Given the description of an element on the screen output the (x, y) to click on. 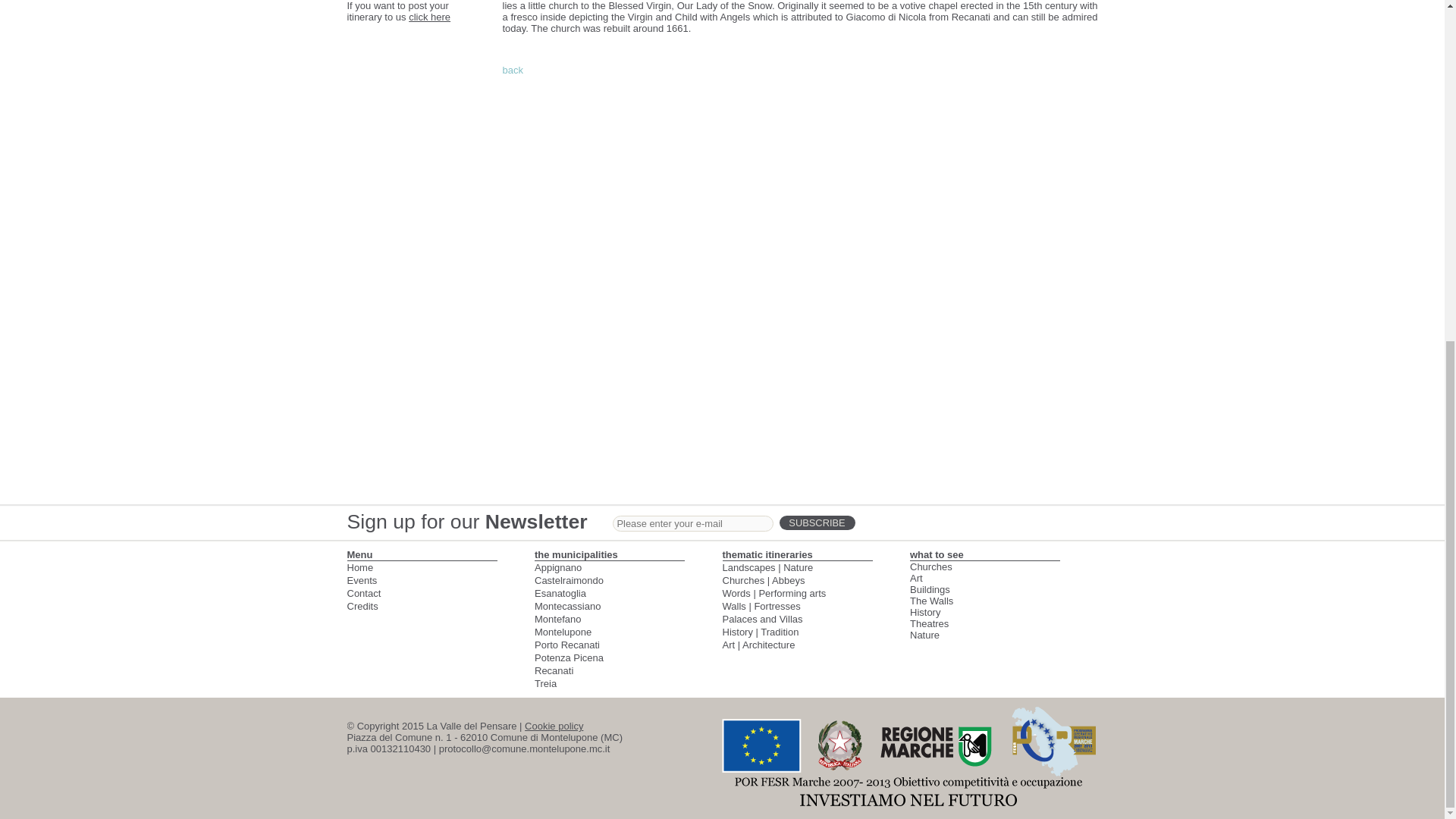
Link alla pagina Home (360, 567)
Link alla pagina Events (362, 580)
Link alla pagina Credits (362, 605)
Link alla pagina Contact (364, 593)
SUBSCRIBE (817, 522)
